Given the description of an element on the screen output the (x, y) to click on. 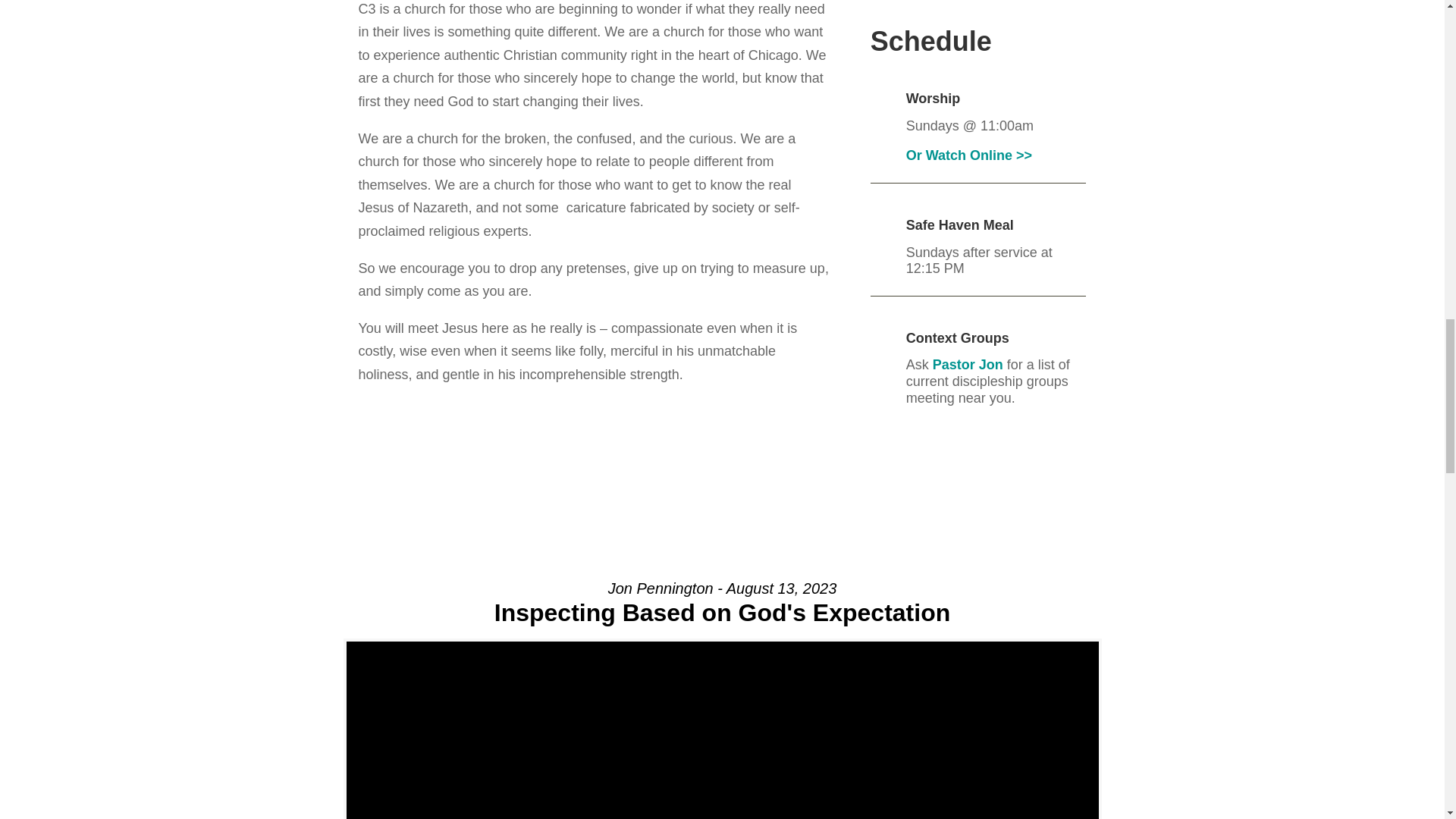
Pastor Jon (968, 364)
